Given the description of an element on the screen output the (x, y) to click on. 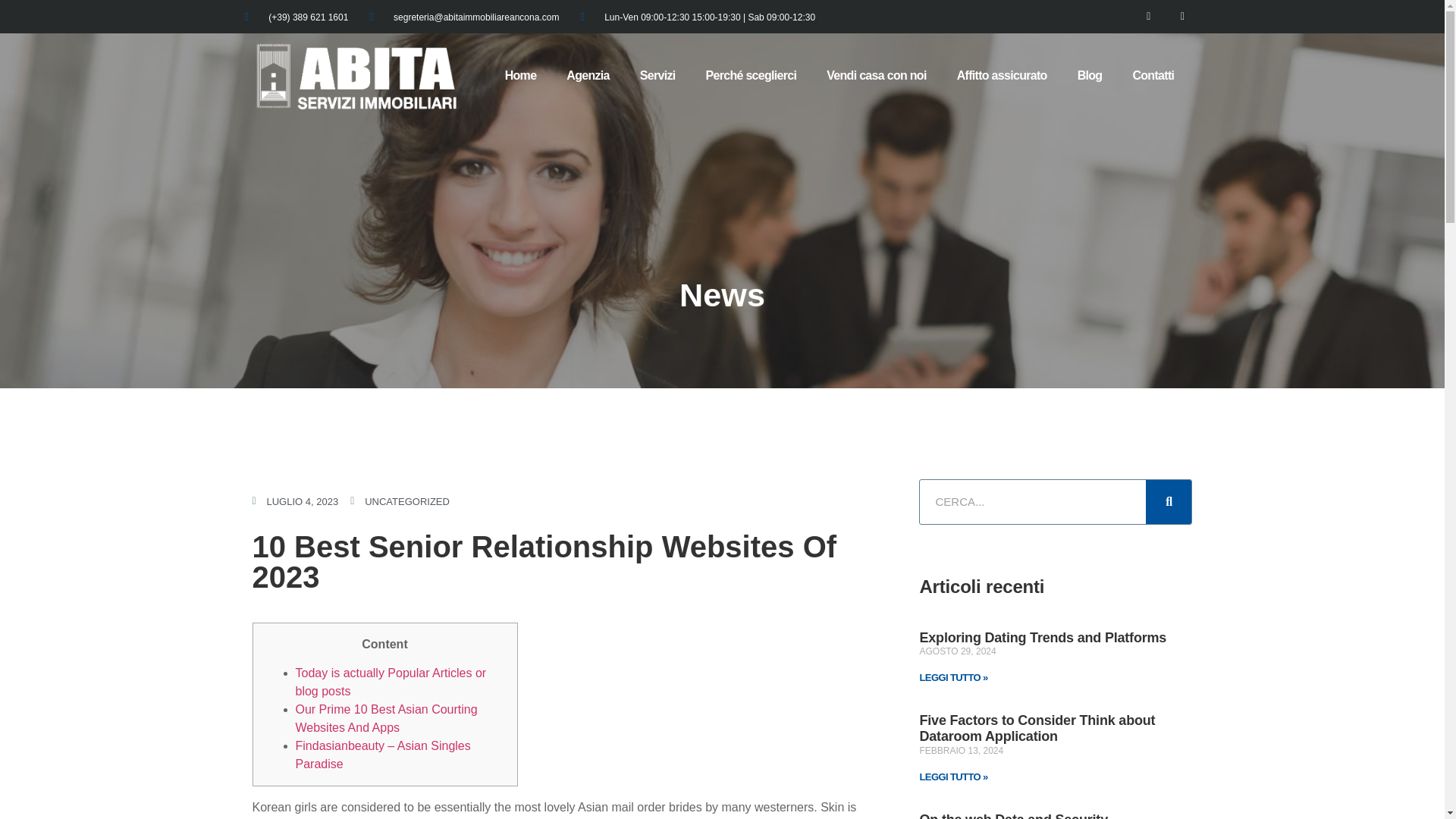
Servizi (657, 75)
abita logo (355, 75)
Home (520, 75)
Contatti (1152, 75)
Vendi casa con noi (875, 75)
Affitto assicurato (1002, 75)
LUGLIO 4, 2023 (294, 501)
Agenzia (587, 75)
Blog (1090, 75)
